Given the description of an element on the screen output the (x, y) to click on. 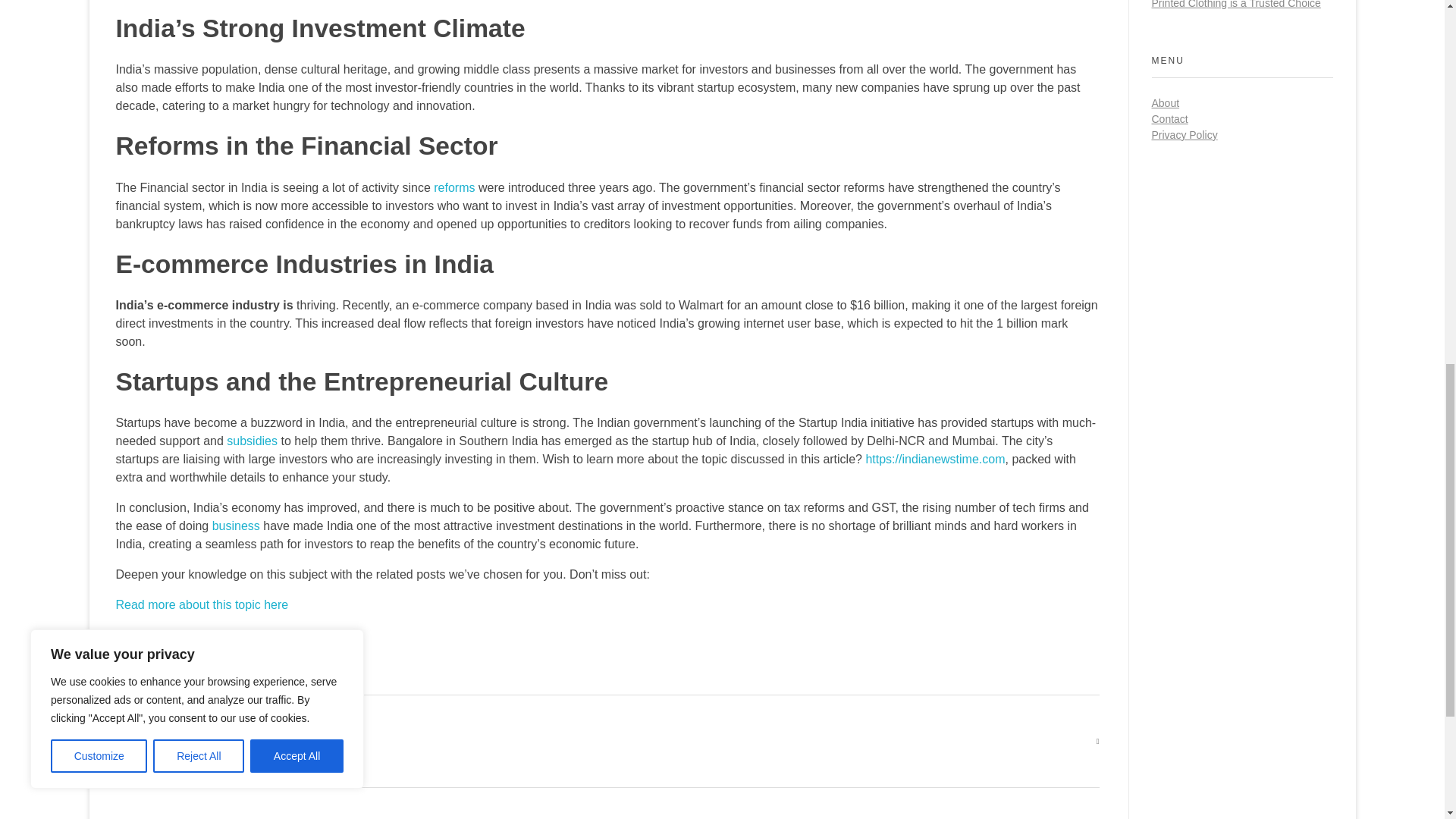
reforms (453, 187)
greatest (164, 740)
business (236, 525)
Understand more with this useful study (219, 634)
Read more about this topic here (201, 604)
subsidies (252, 440)
